Given the description of an element on the screen output the (x, y) to click on. 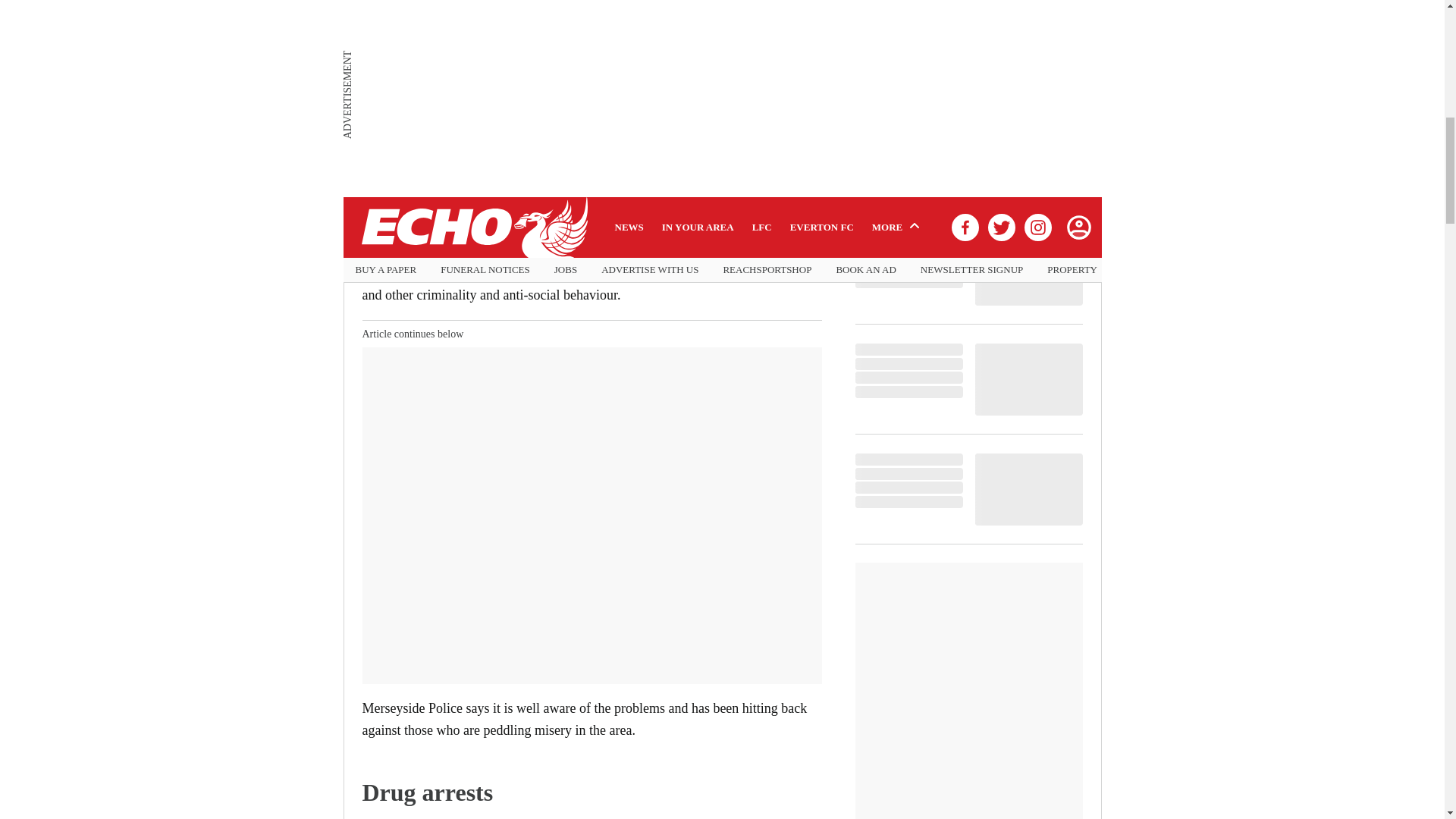
sex worker and drug trade in Sheil Road (630, 180)
